Given the description of an element on the screen output the (x, y) to click on. 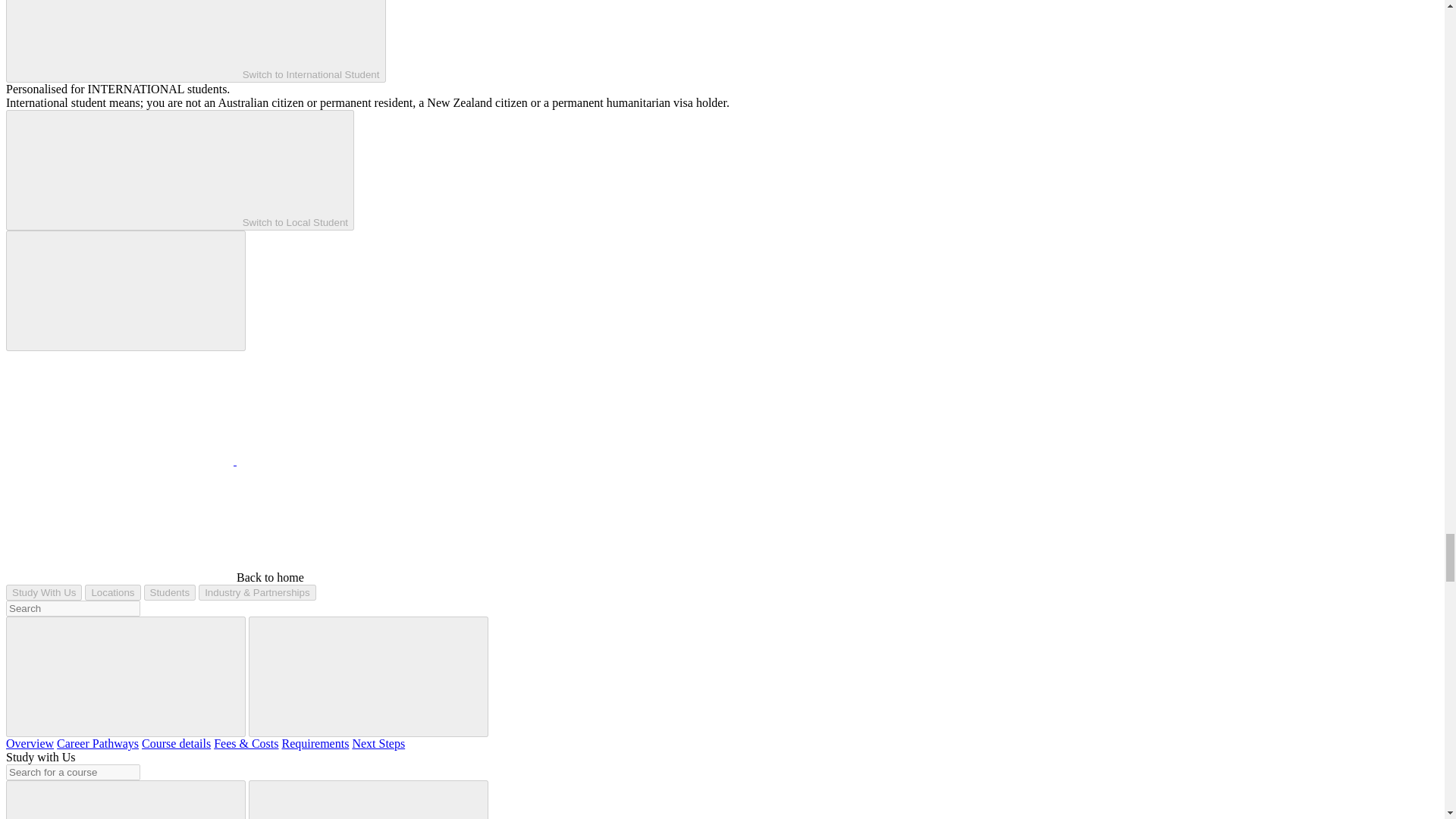
Course details (176, 743)
Requirements (315, 743)
Overview (29, 743)
Next Steps (378, 743)
Career Pathways (97, 743)
